Given the description of an element on the screen output the (x, y) to click on. 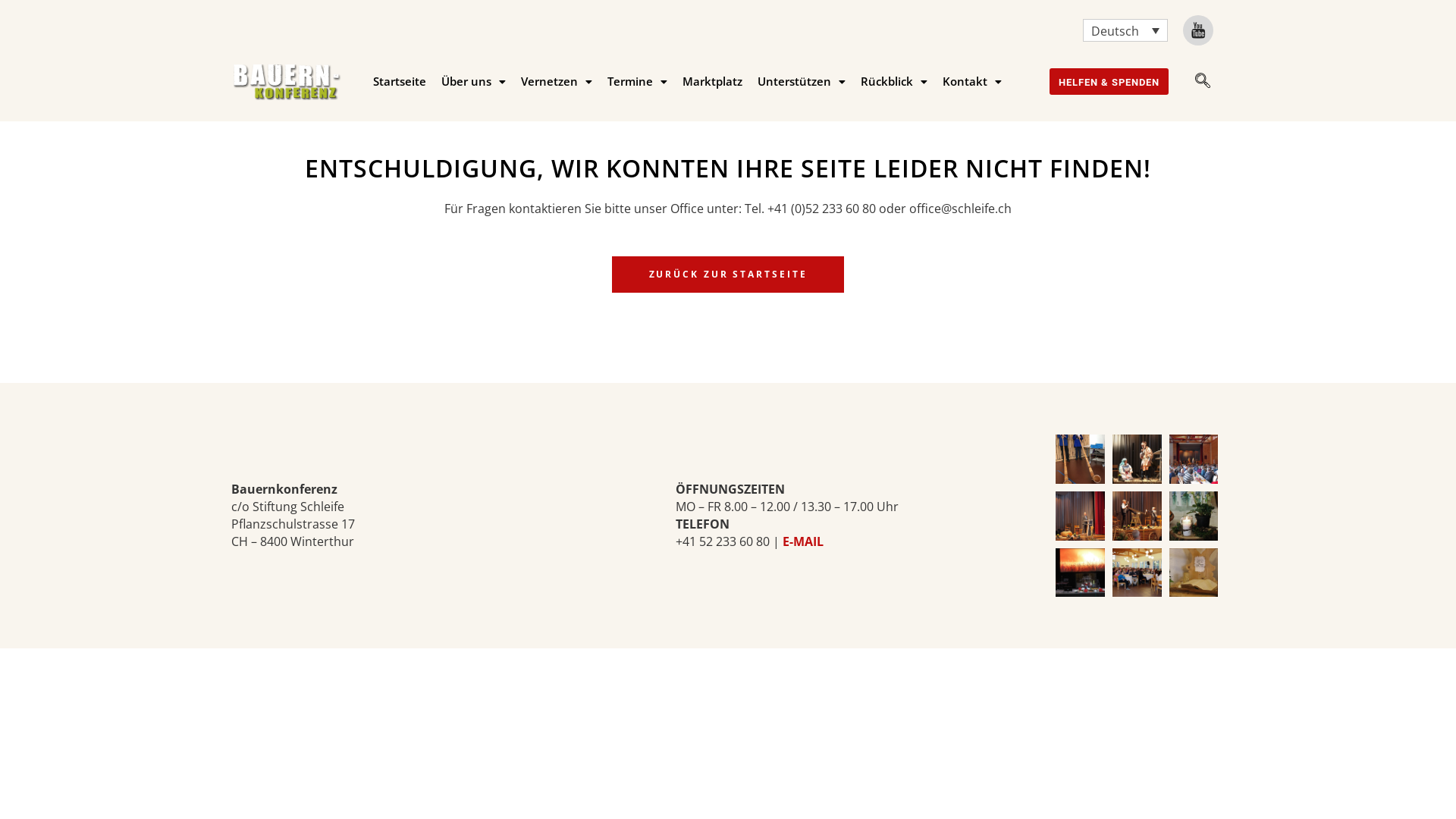
Marktplatz Element type: text (711, 81)
Deutsch Element type: text (1124, 29)
Kontakt Element type: text (972, 81)
HELFEN & SPENDEN Element type: text (1108, 81)
Termine Element type: text (636, 81)
E-MAIL Element type: text (802, 541)
Vernetzen Element type: text (556, 81)
Startseite Element type: text (399, 81)
